Given the description of an element on the screen output the (x, y) to click on. 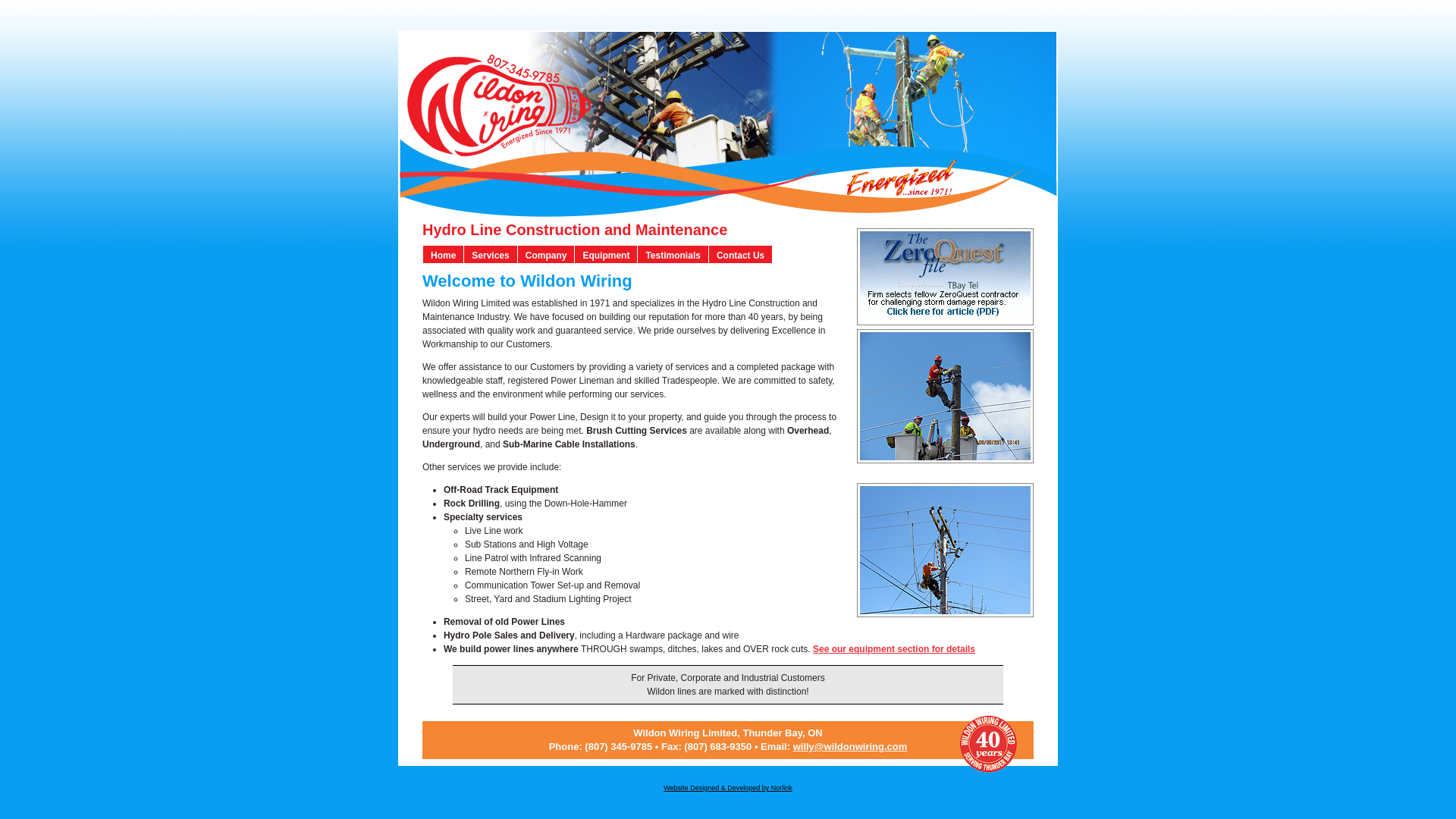
Contact Us (739, 253)
Home (442, 253)
Testimonials (672, 253)
See our equipment section for details (893, 648)
Company (545, 253)
Equipment (605, 253)
Services (489, 253)
